Given the description of an element on the screen output the (x, y) to click on. 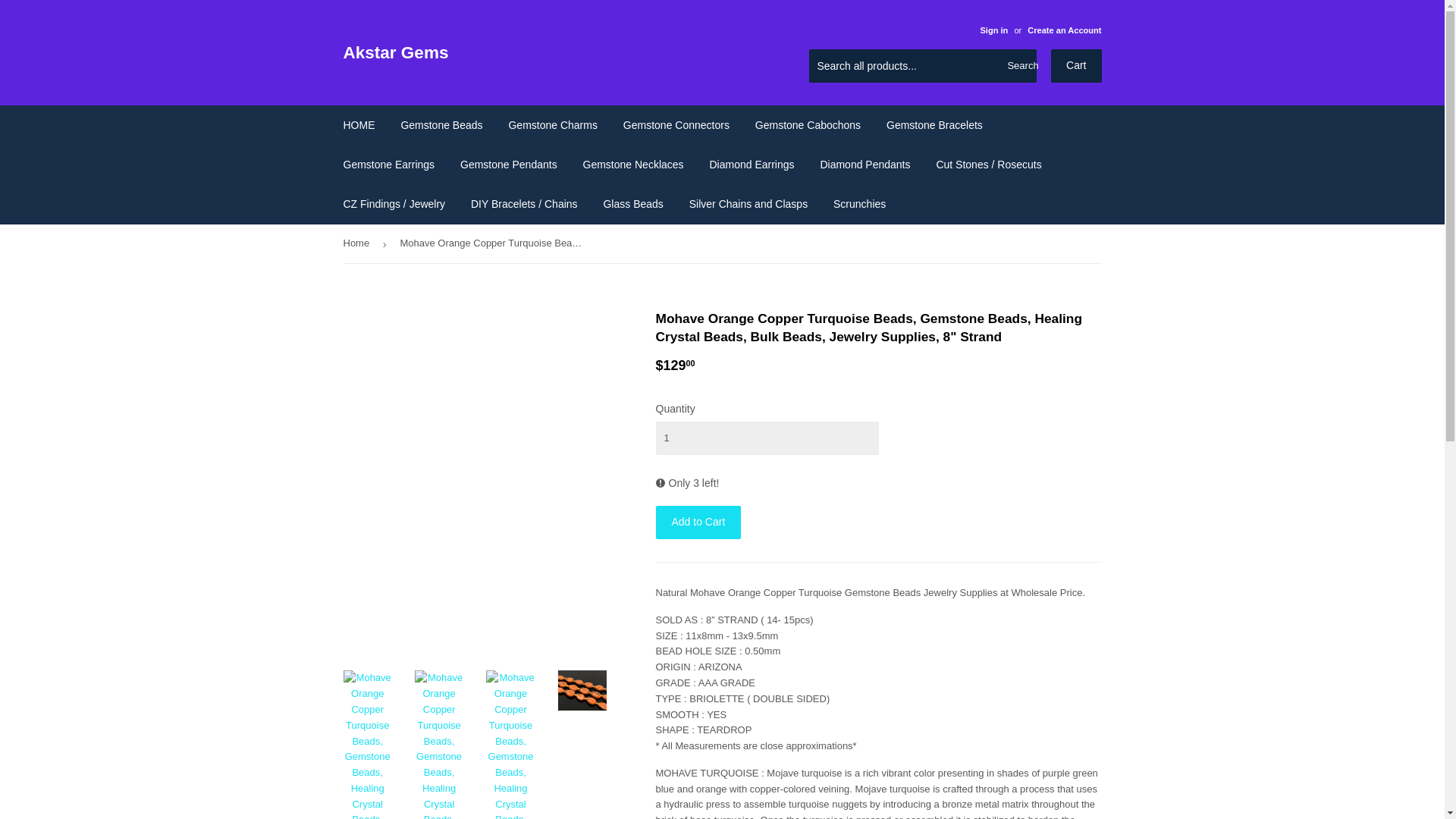
Search (1019, 66)
Diamond Earrings (751, 164)
Gemstone Earrings (388, 164)
Diamond Pendants (864, 164)
Gemstone Necklaces (633, 164)
1 (766, 438)
HOME (359, 124)
Gemstone Connectors (676, 124)
Cart (1075, 65)
Gemstone Cabochons (808, 124)
